Given the description of an element on the screen output the (x, y) to click on. 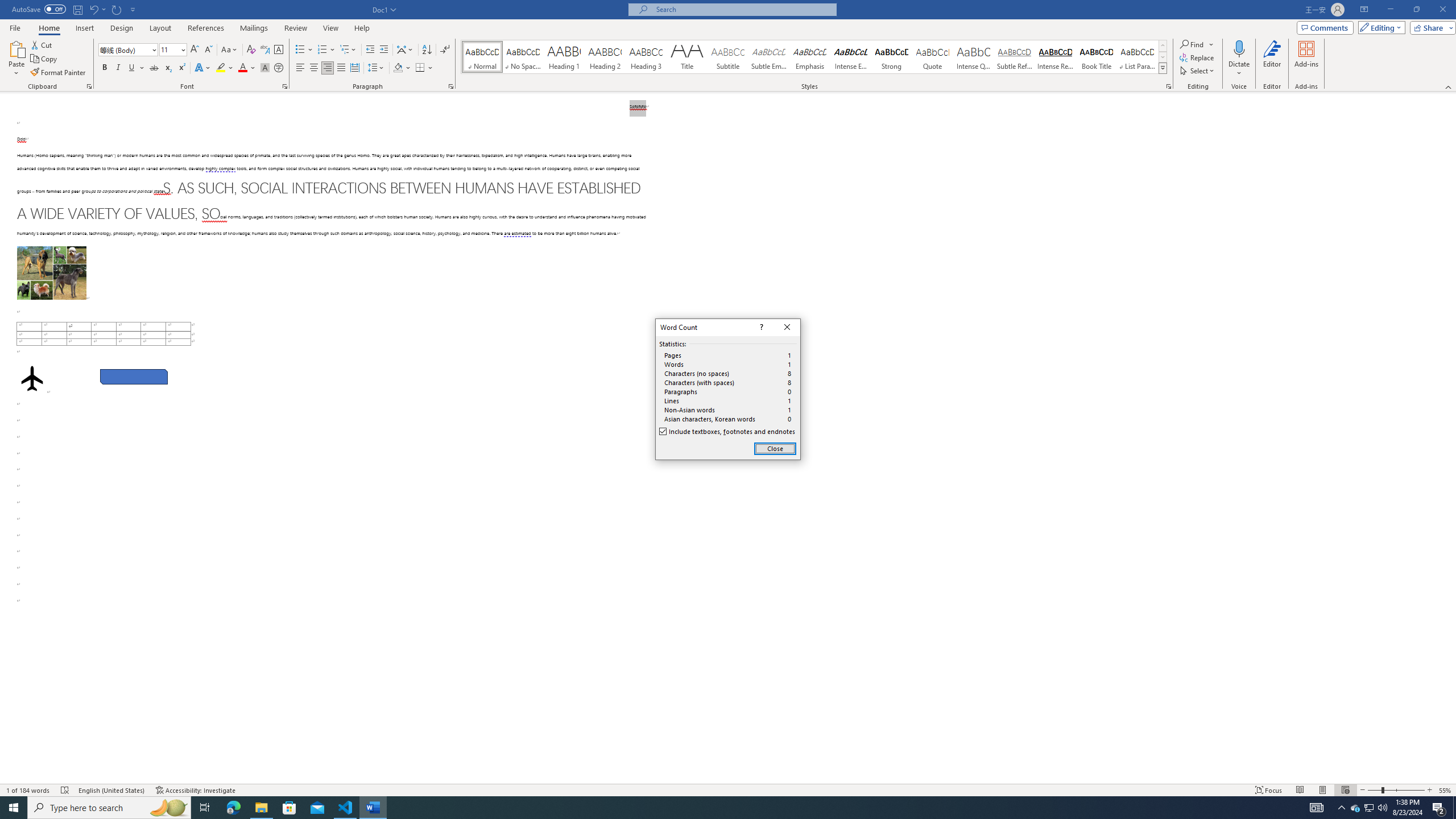
Intense Emphasis (849, 56)
Title (686, 56)
Running applications (717, 807)
Zoom 55% (1445, 790)
